Given the description of an element on the screen output the (x, y) to click on. 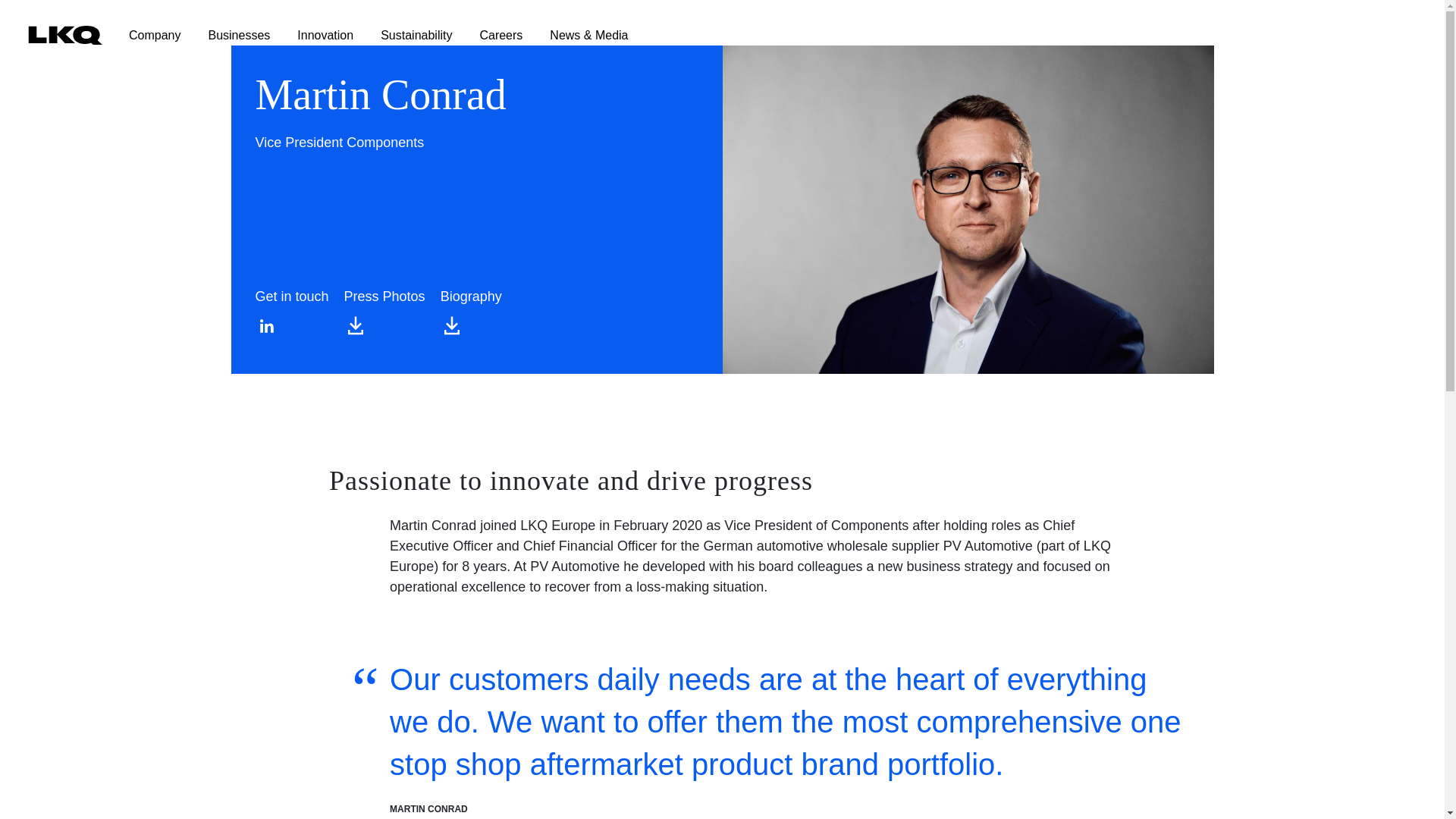
Parent menu Sustainability (402, 26)
Skip to main content (60, 11)
Parent menu Innovation (311, 26)
Enter the terms you wish to search for. (1393, 37)
Company (140, 26)
Innovation (311, 26)
Parent menu Company (140, 26)
Parent menu Careers (486, 26)
Parent menu Businesses (224, 26)
LinkedIn (266, 325)
Careers (486, 26)
Businesses (224, 26)
Home (46, 38)
Sustainability (402, 26)
